Given the description of an element on the screen output the (x, y) to click on. 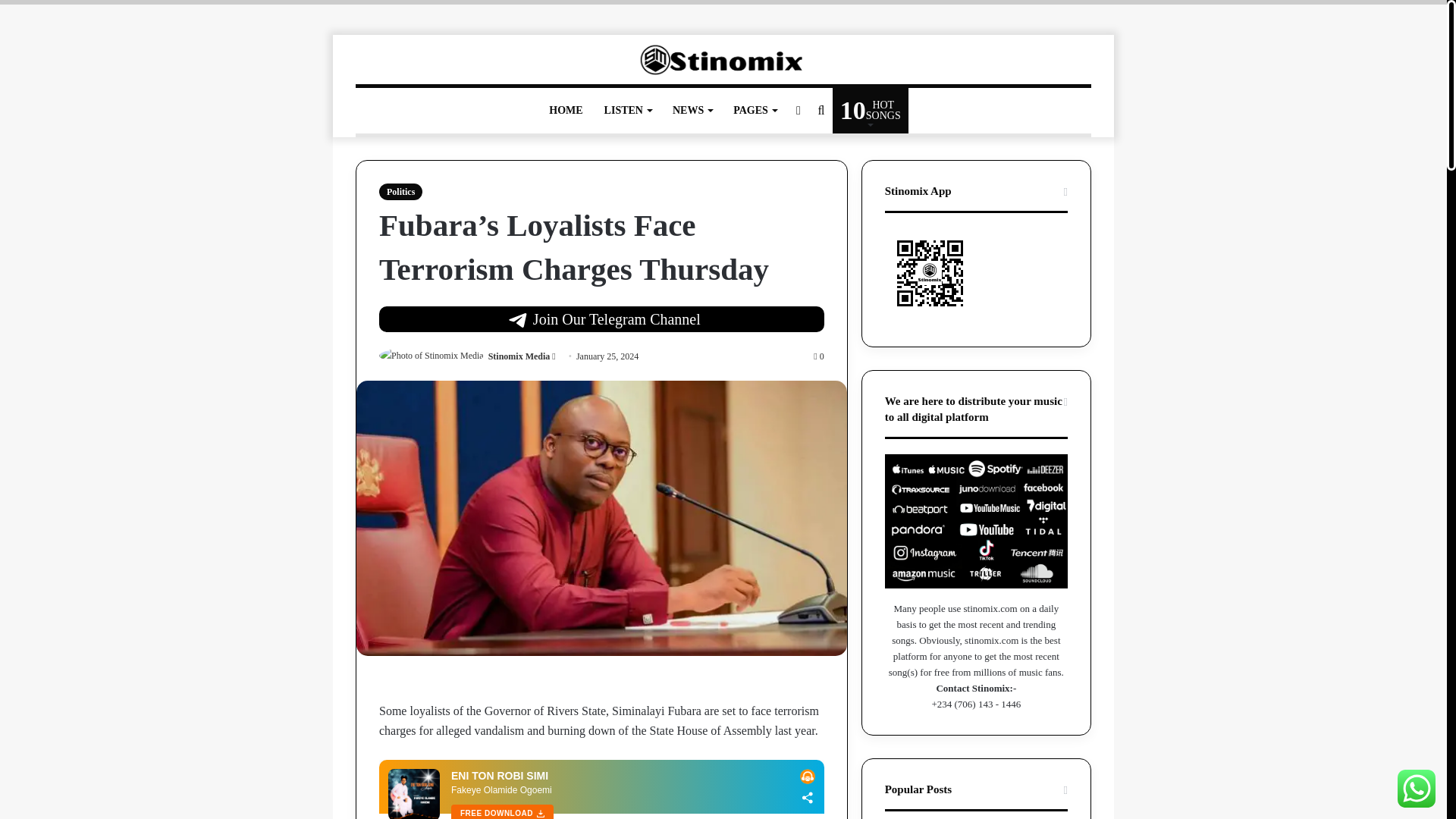
Stinomix Media (518, 356)
Politics (400, 191)
Stinomix.com (722, 61)
Join Our Telegram Channel (601, 319)
HOME (565, 110)
PAGES (754, 110)
NEWS (870, 110)
LISTEN (692, 110)
